Given the description of an element on the screen output the (x, y) to click on. 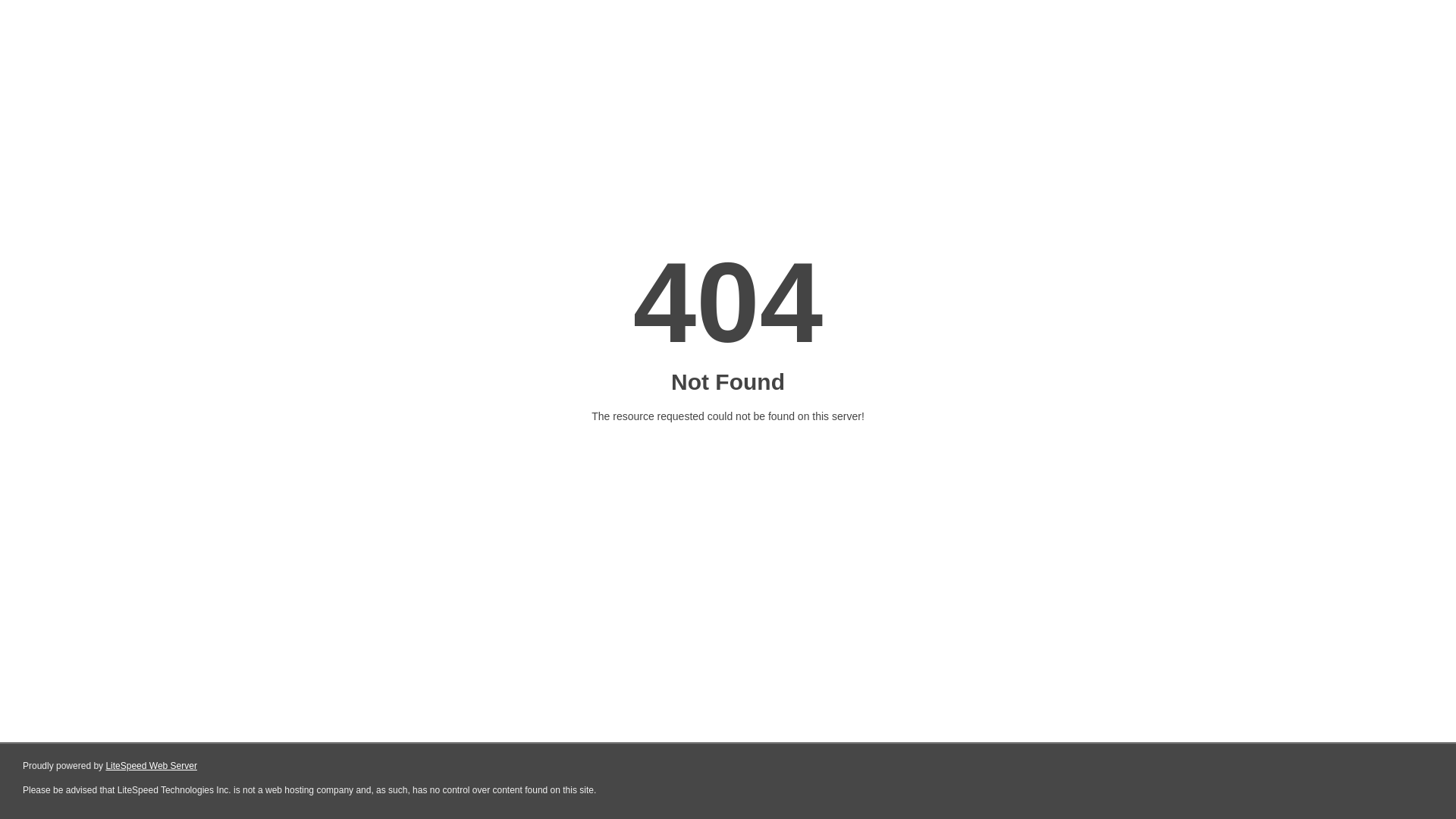
LiteSpeed Web Server Element type: text (151, 765)
